Given the description of an element on the screen output the (x, y) to click on. 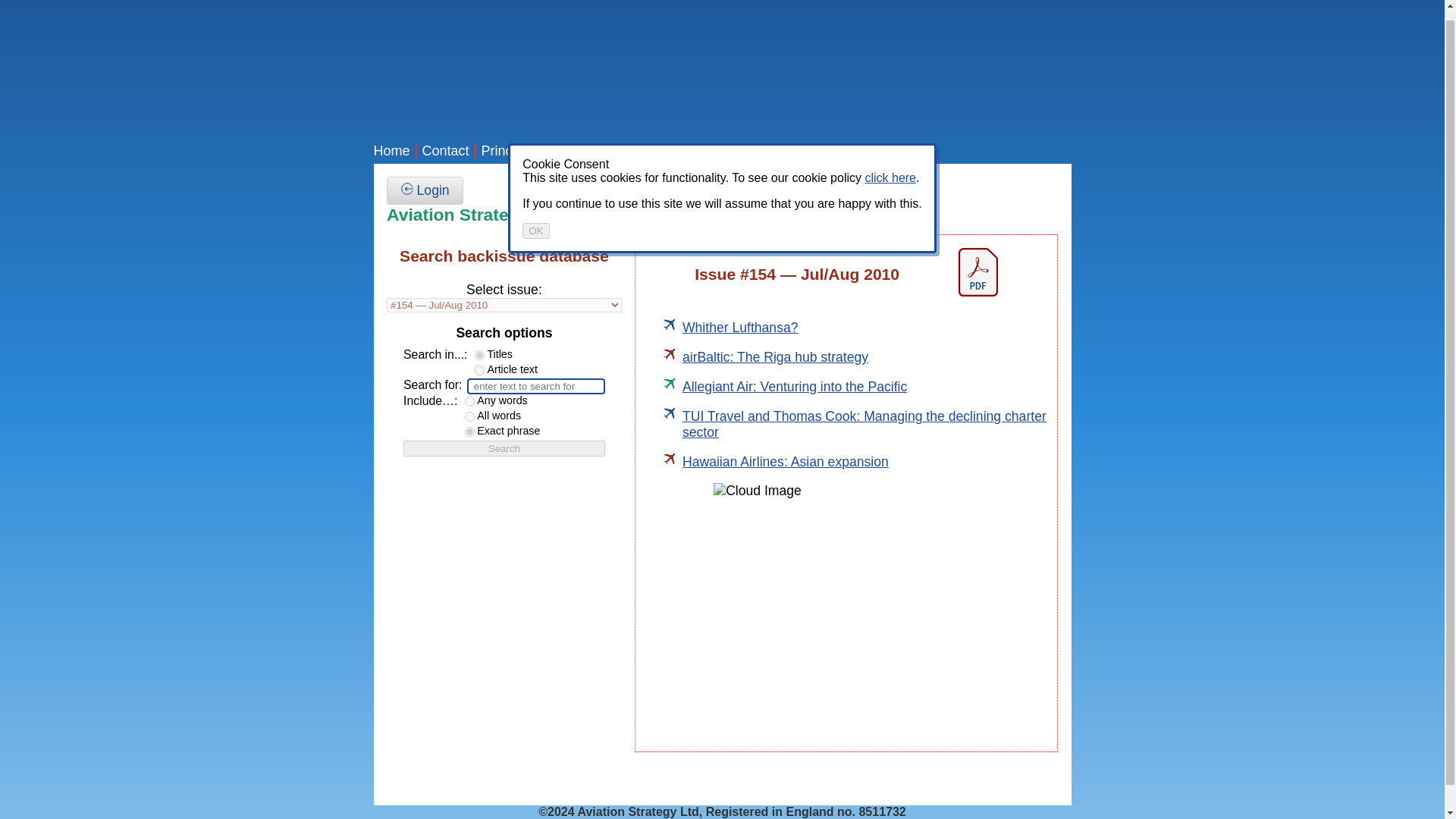
Allegiant Air: Venturing into the Pacific (794, 386)
Home (390, 150)
Newsletter (665, 150)
1652 (785, 461)
Principals (510, 150)
1 (479, 355)
0 (469, 401)
0 (479, 370)
2 (469, 431)
1648 (739, 327)
1649 (774, 356)
Contact (445, 150)
To see article titles (504, 296)
Credentials (587, 150)
Login (425, 190)
